Given the description of an element on the screen output the (x, y) to click on. 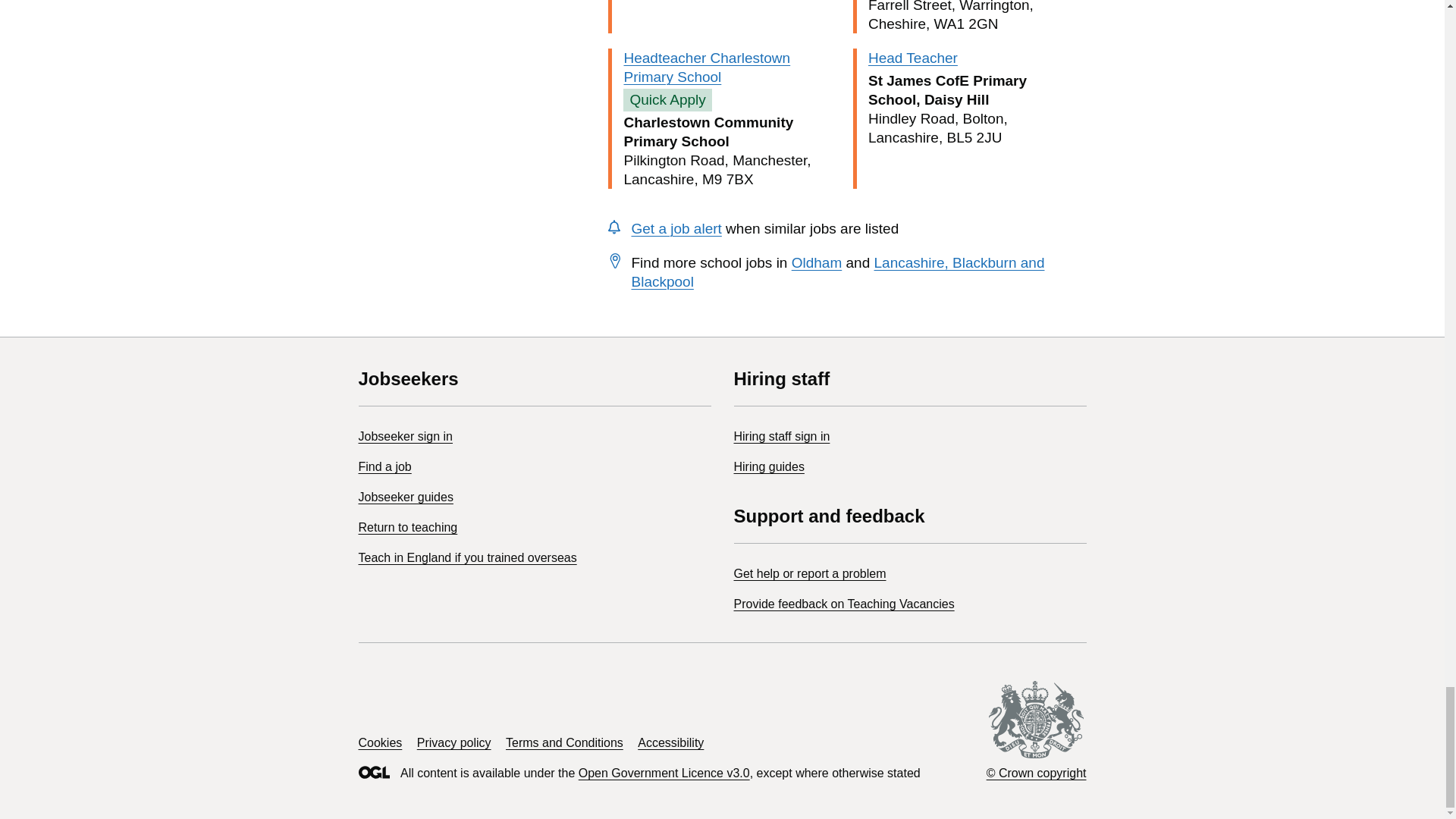
Jobseeker sign in (405, 436)
Headteacher Charlestown Primary School (706, 67)
Lancashire, Blackburn and Blackpool (836, 271)
Get help or report a problem (809, 573)
Jobseeker guides (405, 496)
Oldham (817, 262)
Get a job alert (675, 228)
Provide feedback on Teaching Vacancies (844, 603)
Hiring staff sign in (781, 436)
Hiring guides (769, 466)
Teach in England if you trained overseas (467, 557)
Head Teacher (912, 57)
Return to teaching (407, 526)
Find a job (384, 466)
